Given the description of an element on the screen output the (x, y) to click on. 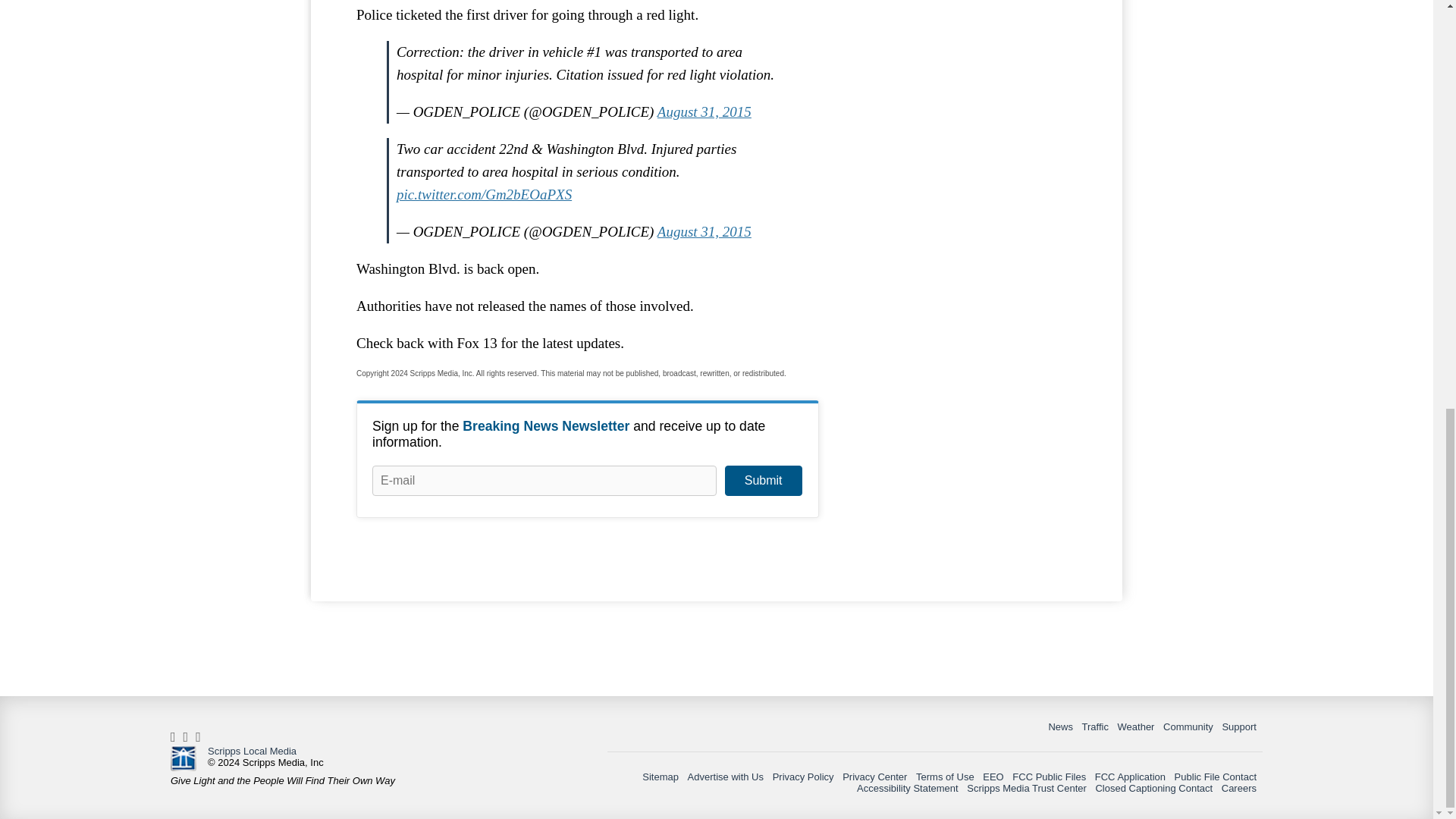
Submit (763, 481)
